Given the description of an element on the screen output the (x, y) to click on. 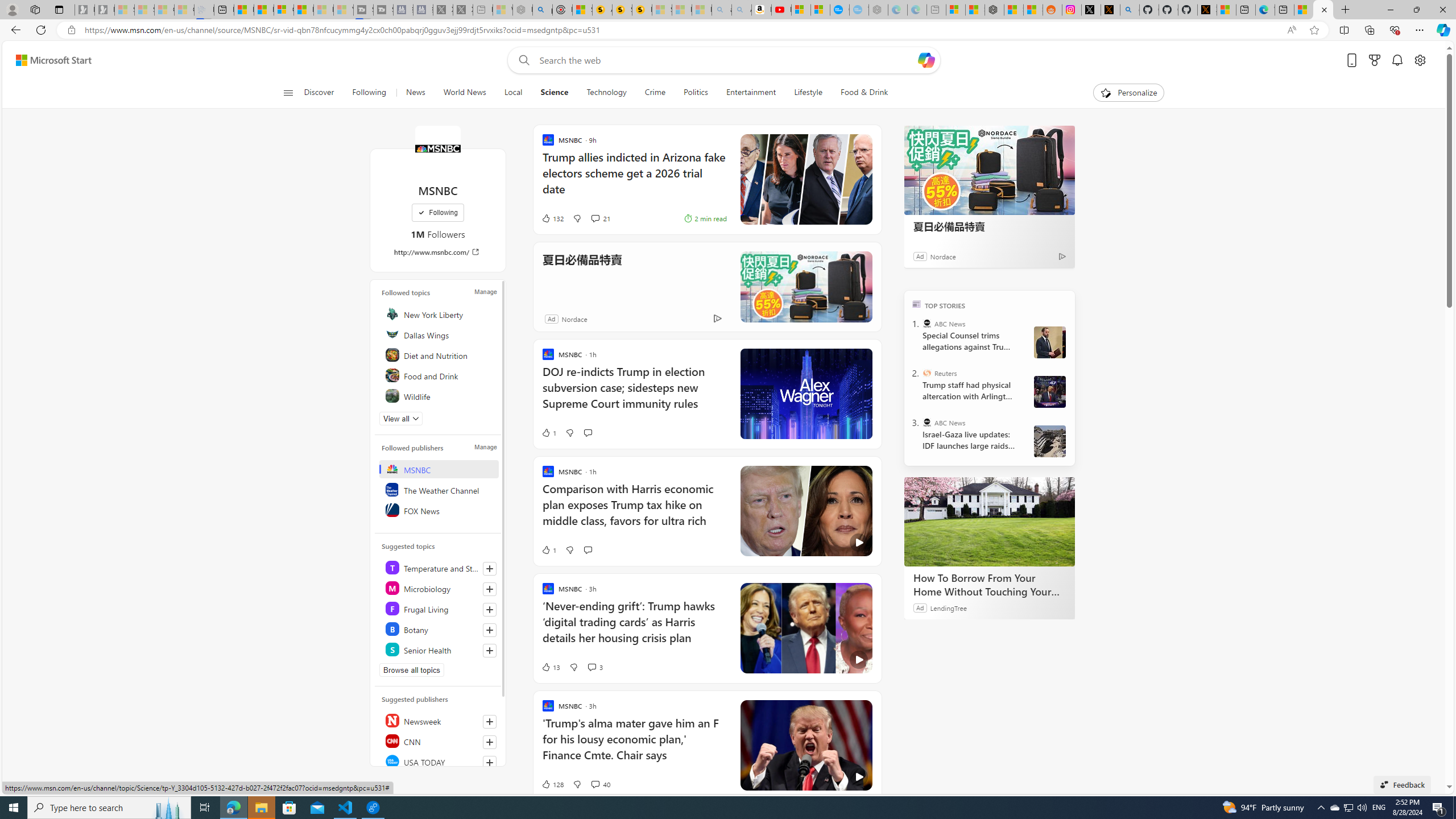
The most popular Google 'how to' searches - Sleeping (858, 9)
MSNBC (439, 469)
View comments 3 Comment (594, 667)
Wildlife (439, 395)
Crime (654, 92)
View comments 21 Comment (599, 218)
13 Like (549, 667)
View comments 21 Comment (594, 217)
